Given the description of an element on the screen output the (x, y) to click on. 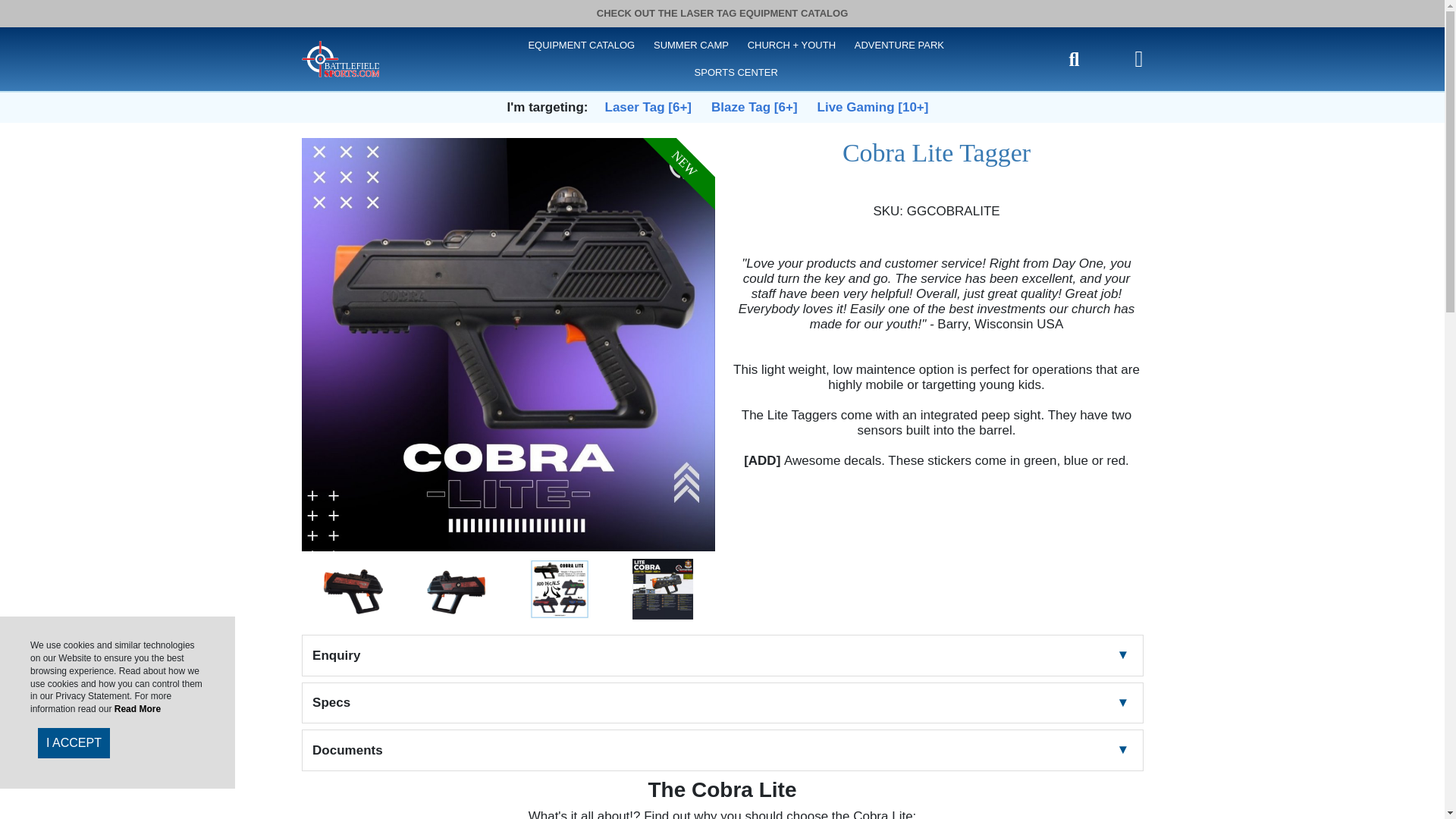
laser tag equipment (339, 57)
EQUIPMENT CATALOG (581, 44)
CHECK OUT THE LASER TAG EQUIPMENT CATALOG (722, 13)
SUMMER CAMP (690, 44)
ADVENTURE PARK (898, 44)
SPORTS CENTER (735, 72)
